Given the description of an element on the screen output the (x, y) to click on. 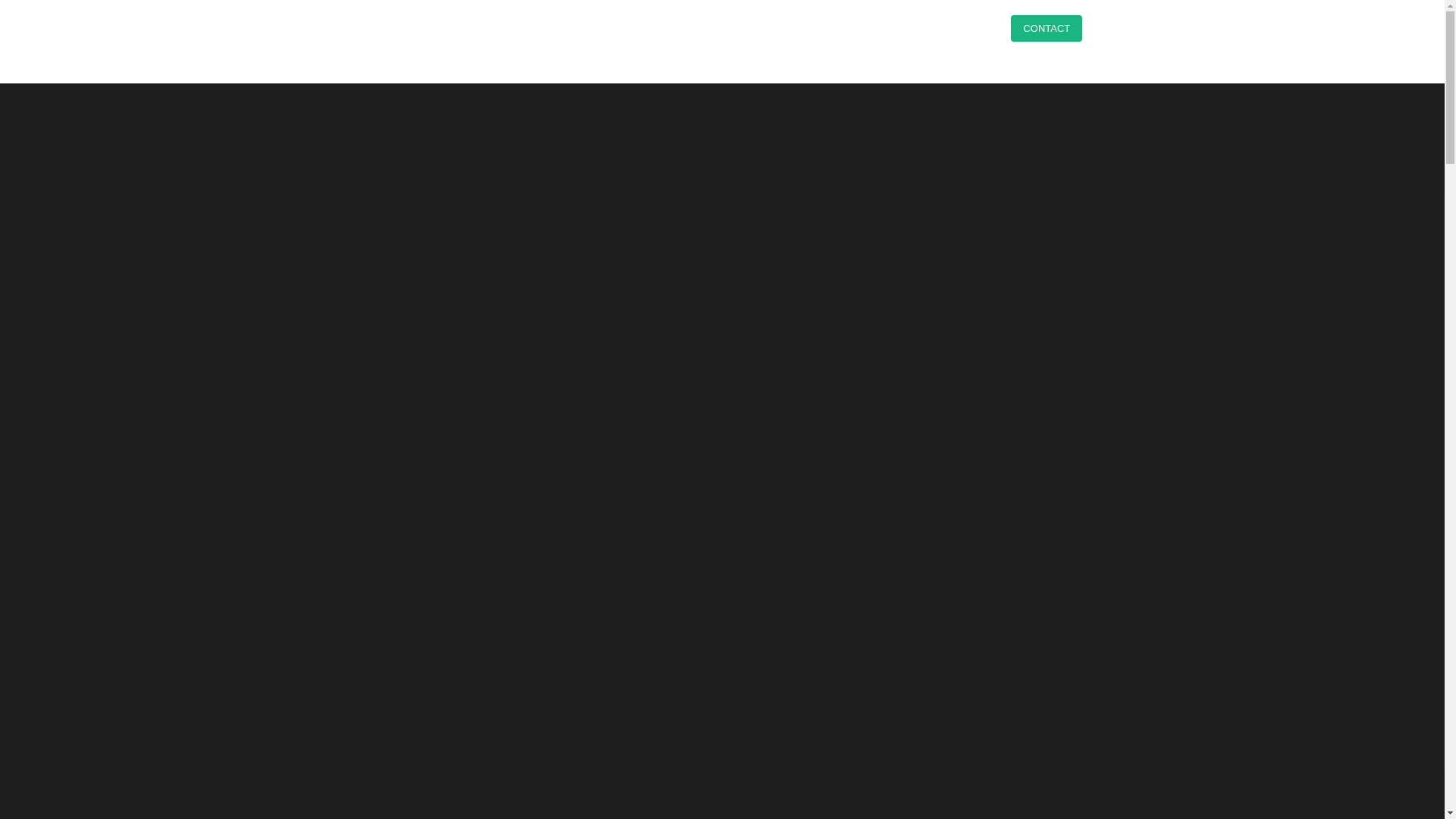
ABOUT (971, 30)
WEBSITE SERVICES (775, 30)
IT CONSULTANCY (888, 30)
SOFTWARE DEVELOPMENT (638, 30)
CONTACT (1045, 28)
